Given the description of an element on the screen output the (x, y) to click on. 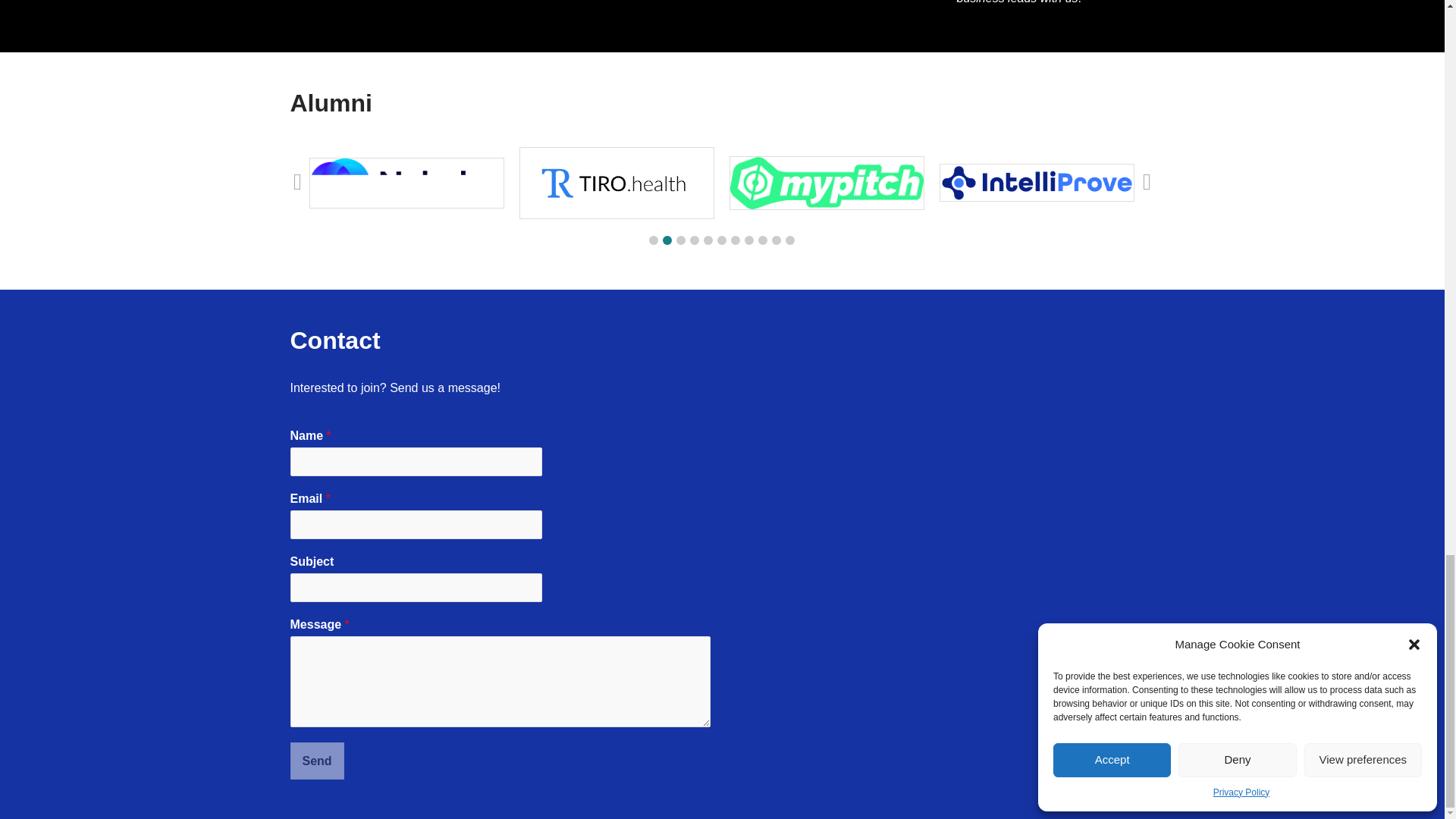
Send (316, 760)
